Given the description of an element on the screen output the (x, y) to click on. 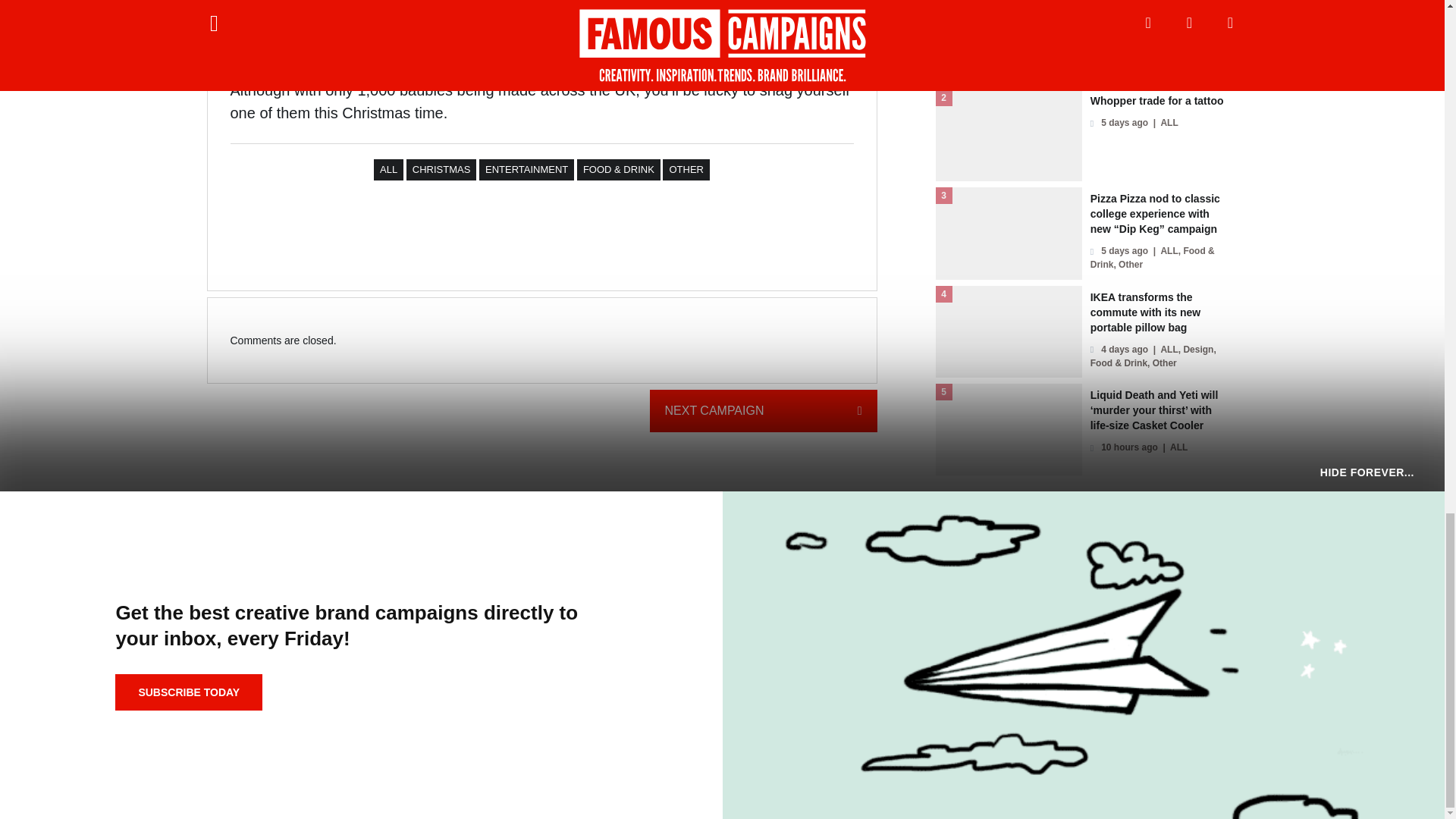
ALL (388, 169)
ENTERTAINMENT (526, 169)
CHRISTMAS (441, 169)
